Given the description of an element on the screen output the (x, y) to click on. 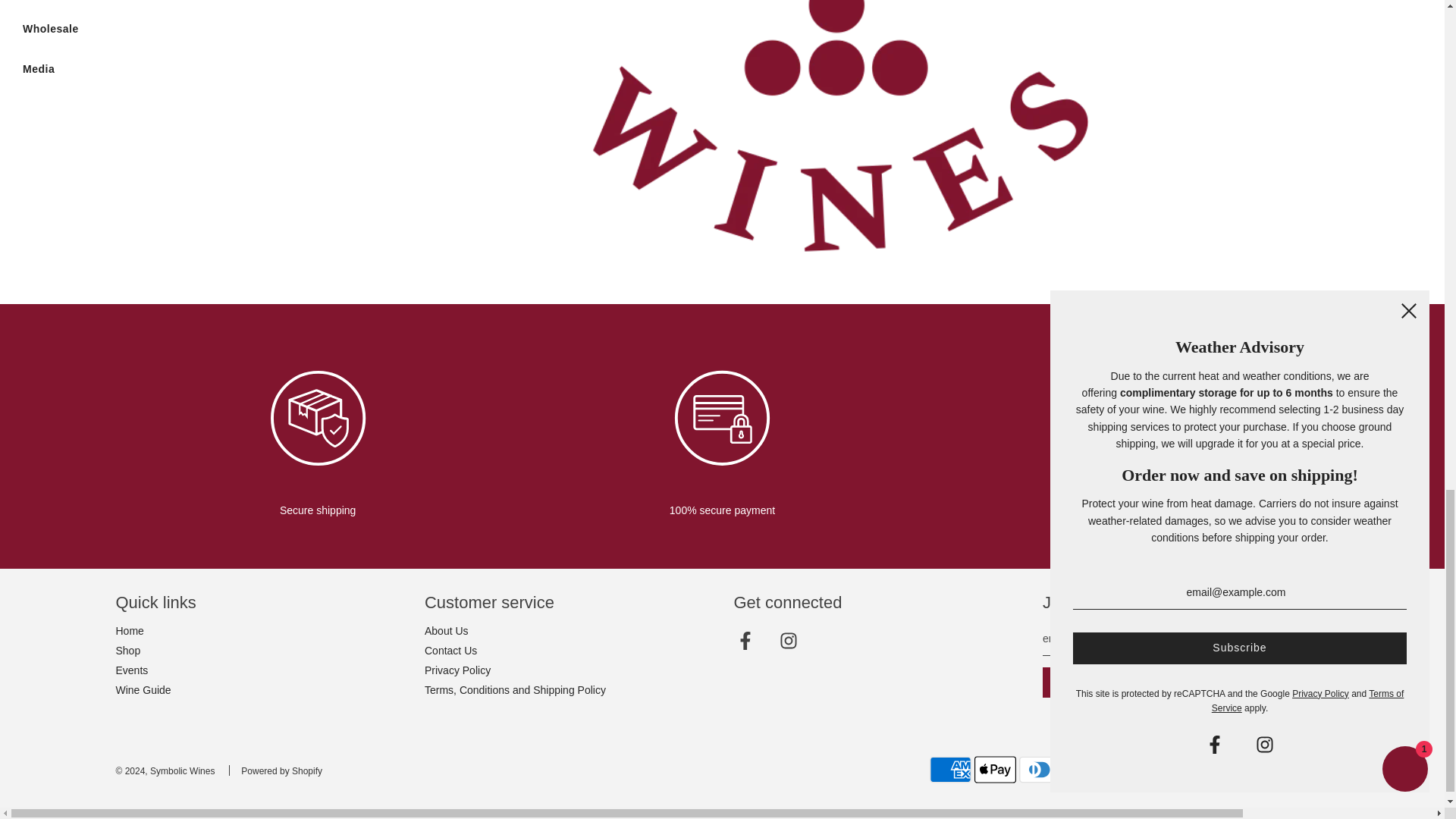
Subscribe (1084, 682)
